Given the description of an element on the screen output the (x, y) to click on. 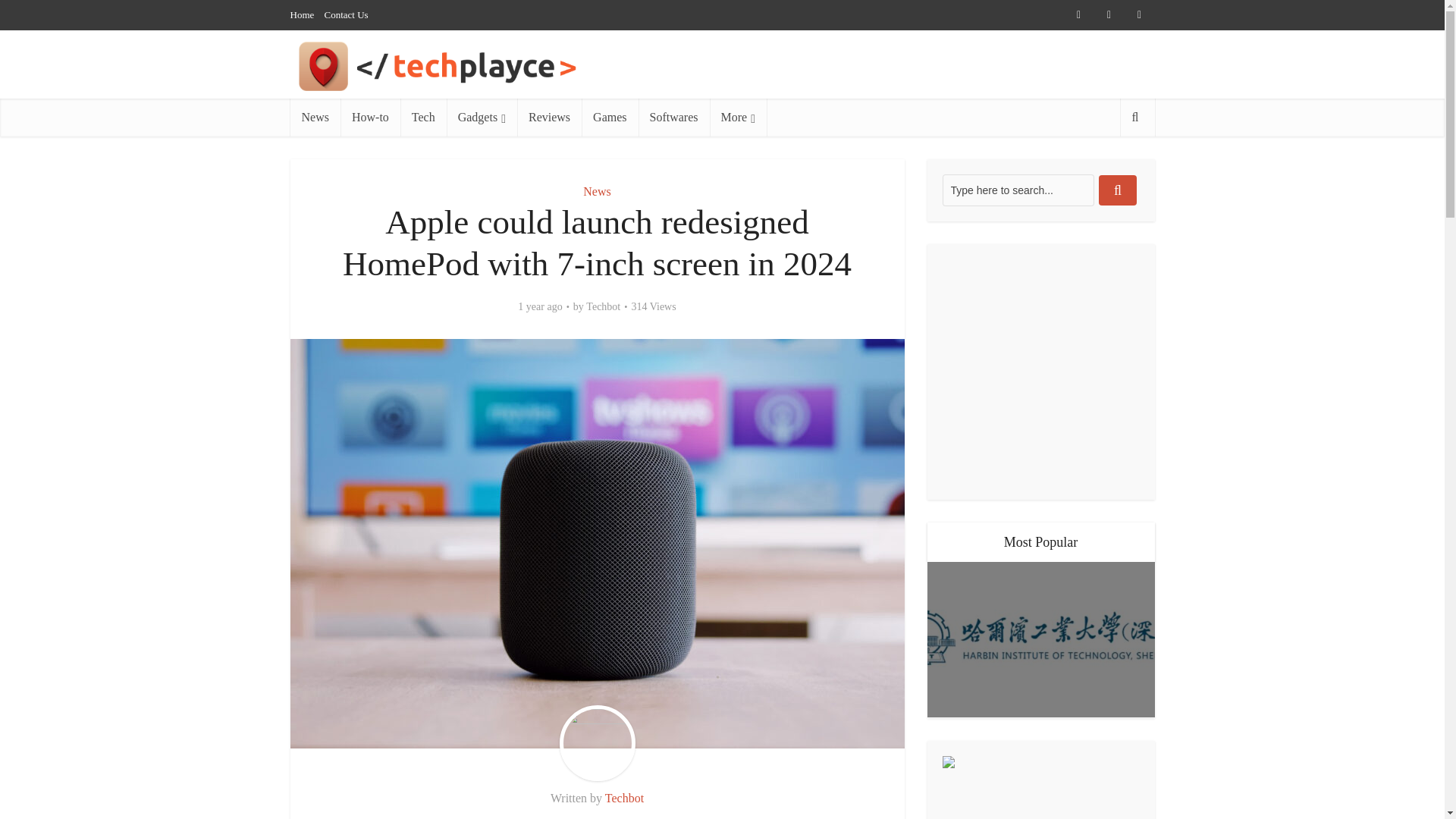
Games (608, 117)
News (314, 117)
Techbot (624, 797)
Gadgets (481, 117)
Type here to search... (1017, 190)
Reviews (548, 117)
Home (301, 14)
Softwares (674, 117)
More (738, 117)
Techbot (603, 306)
How-to (370, 117)
News (596, 191)
Google Chrome is now releasing security updates weekly (1040, 768)
Techplayce (495, 65)
Type here to search... (1017, 190)
